Given the description of an element on the screen output the (x, y) to click on. 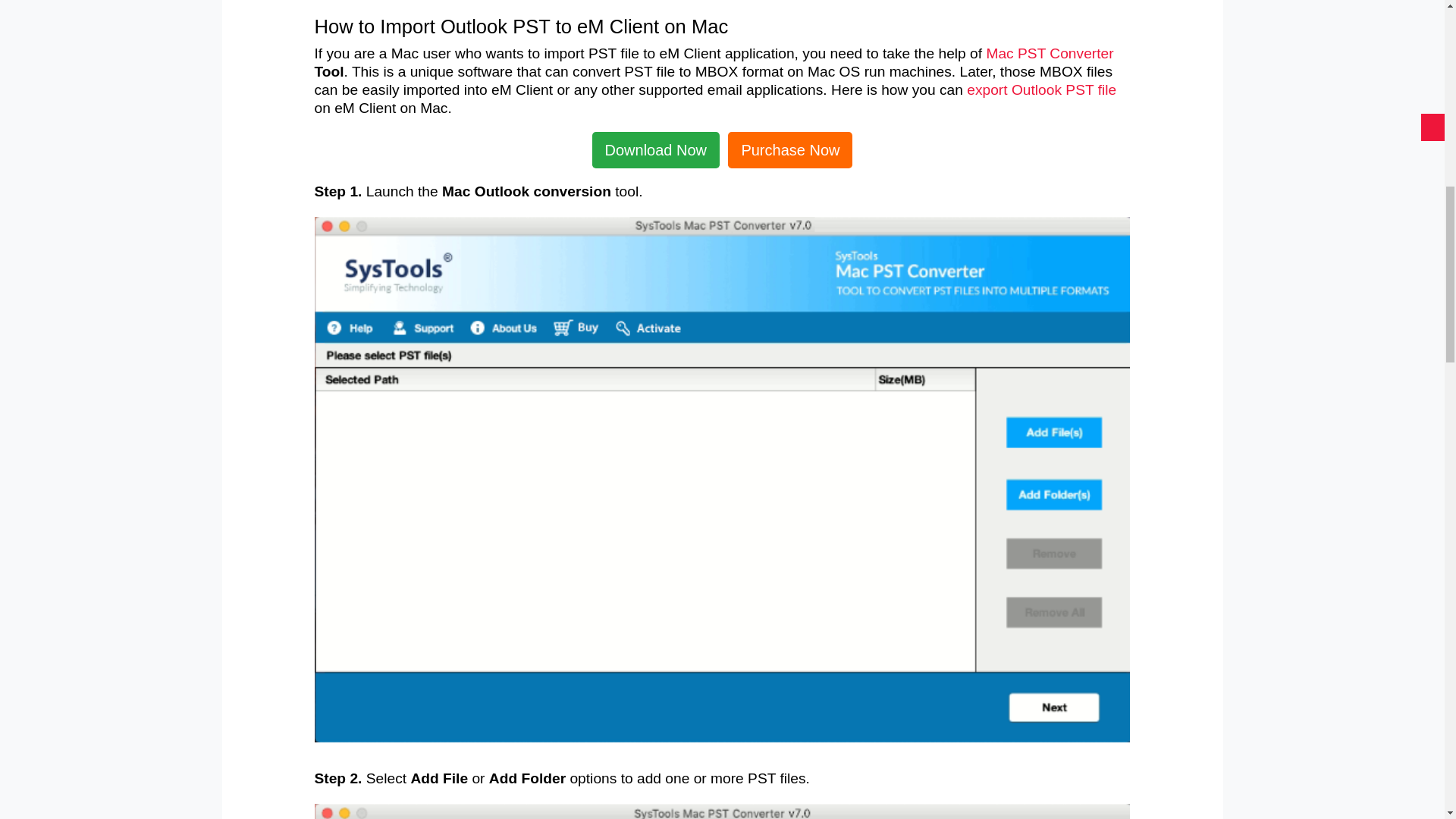
Mac PST Converter (1049, 53)
export Outlook PST file (1041, 89)
Purchase Now (789, 149)
Download Now (656, 149)
